Given the description of an element on the screen output the (x, y) to click on. 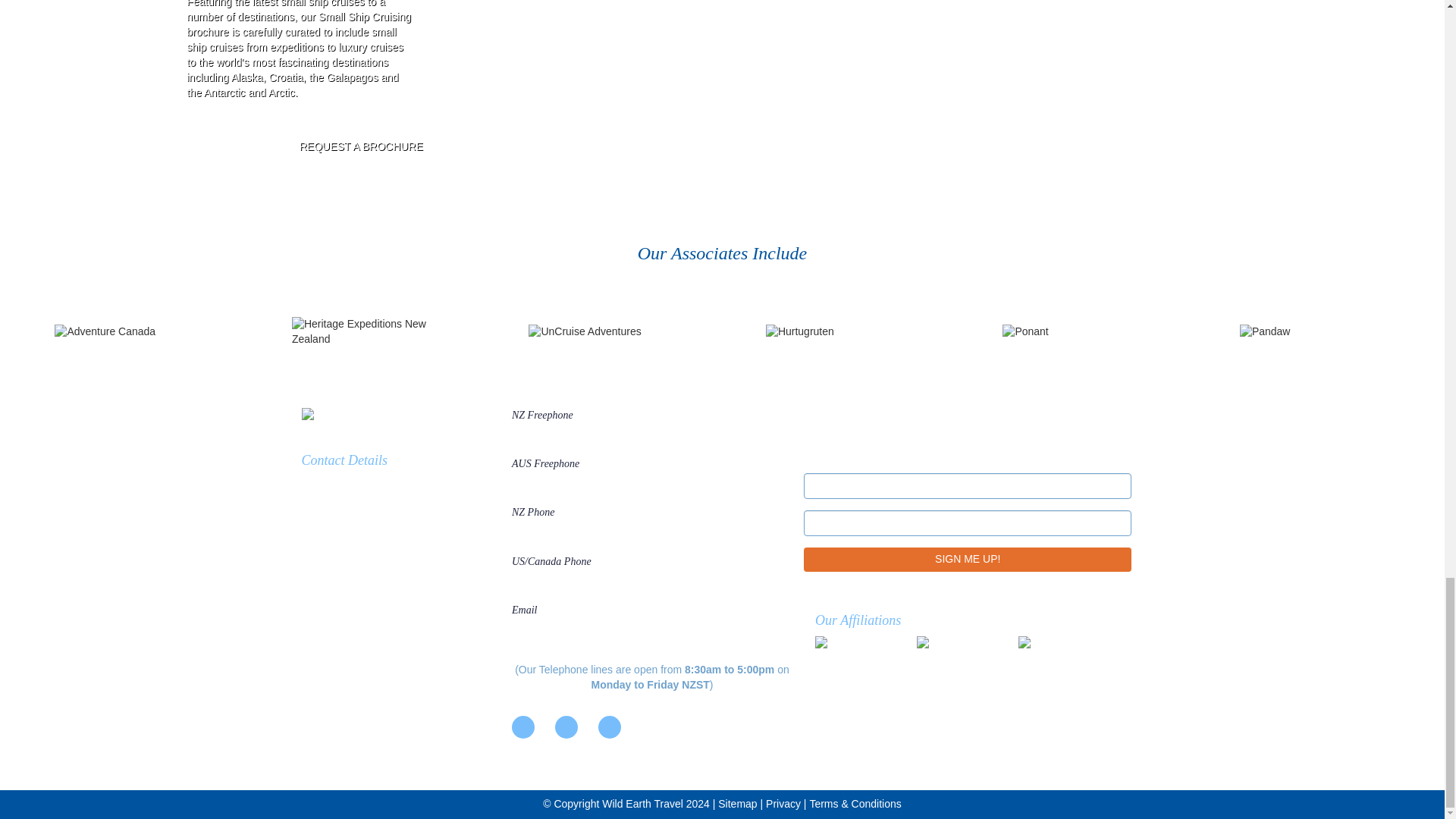
Ponant (1078, 331)
UnCruise Adventures (603, 331)
Small Cruise Ship Collection (1062, 651)
Heritage Expeditions New Zealand (367, 331)
Adventure Canada (130, 331)
Pandaw (1315, 331)
Wild Earth Travel Footer Logo (400, 415)
Hurtugruten (840, 331)
